Given the description of an element on the screen output the (x, y) to click on. 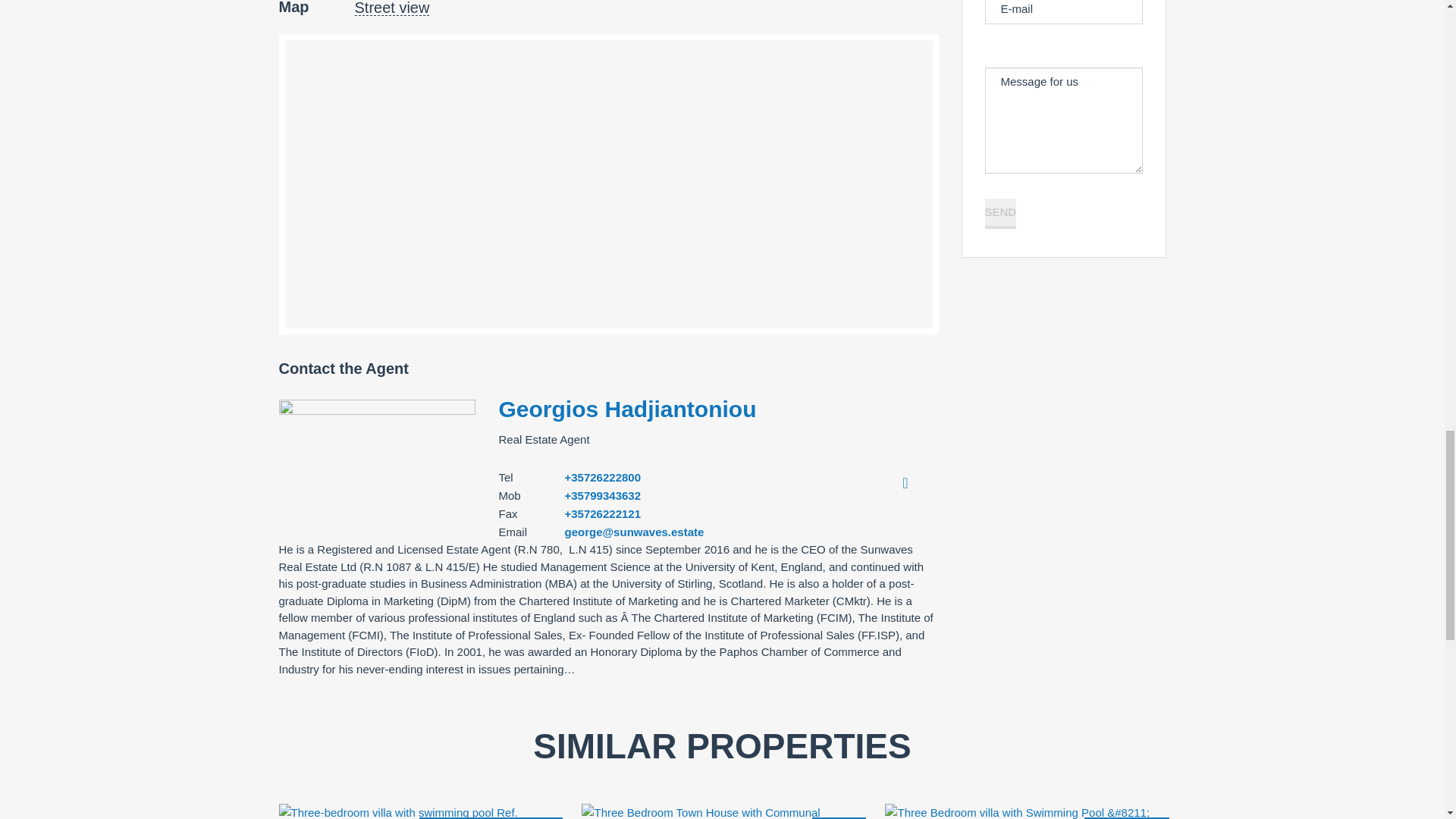
Send (1000, 214)
